Given the description of an element on the screen output the (x, y) to click on. 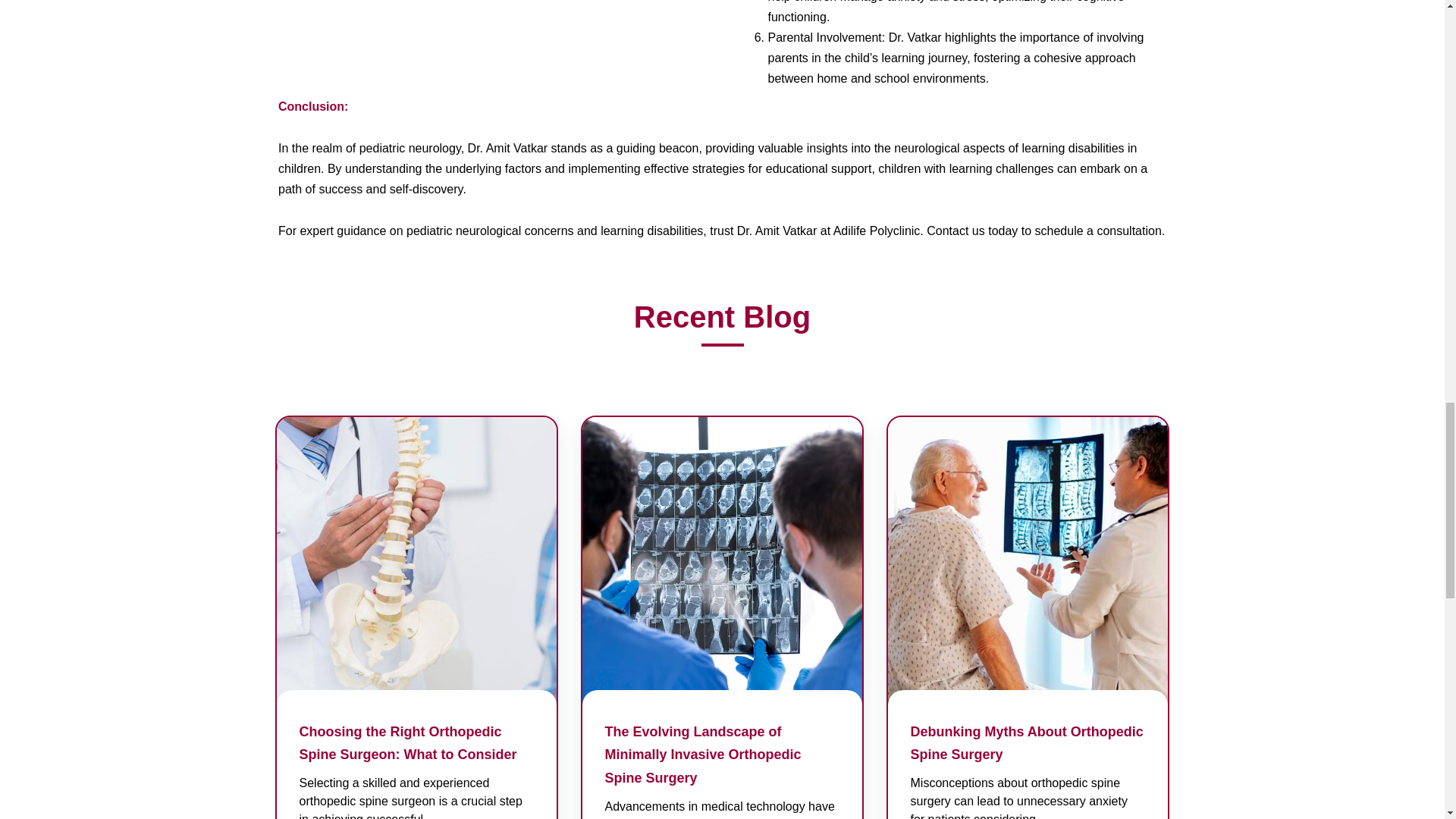
Debunking Myths About Orthopedic Spine Surgery (1027, 739)
